Given the description of an element on the screen output the (x, y) to click on. 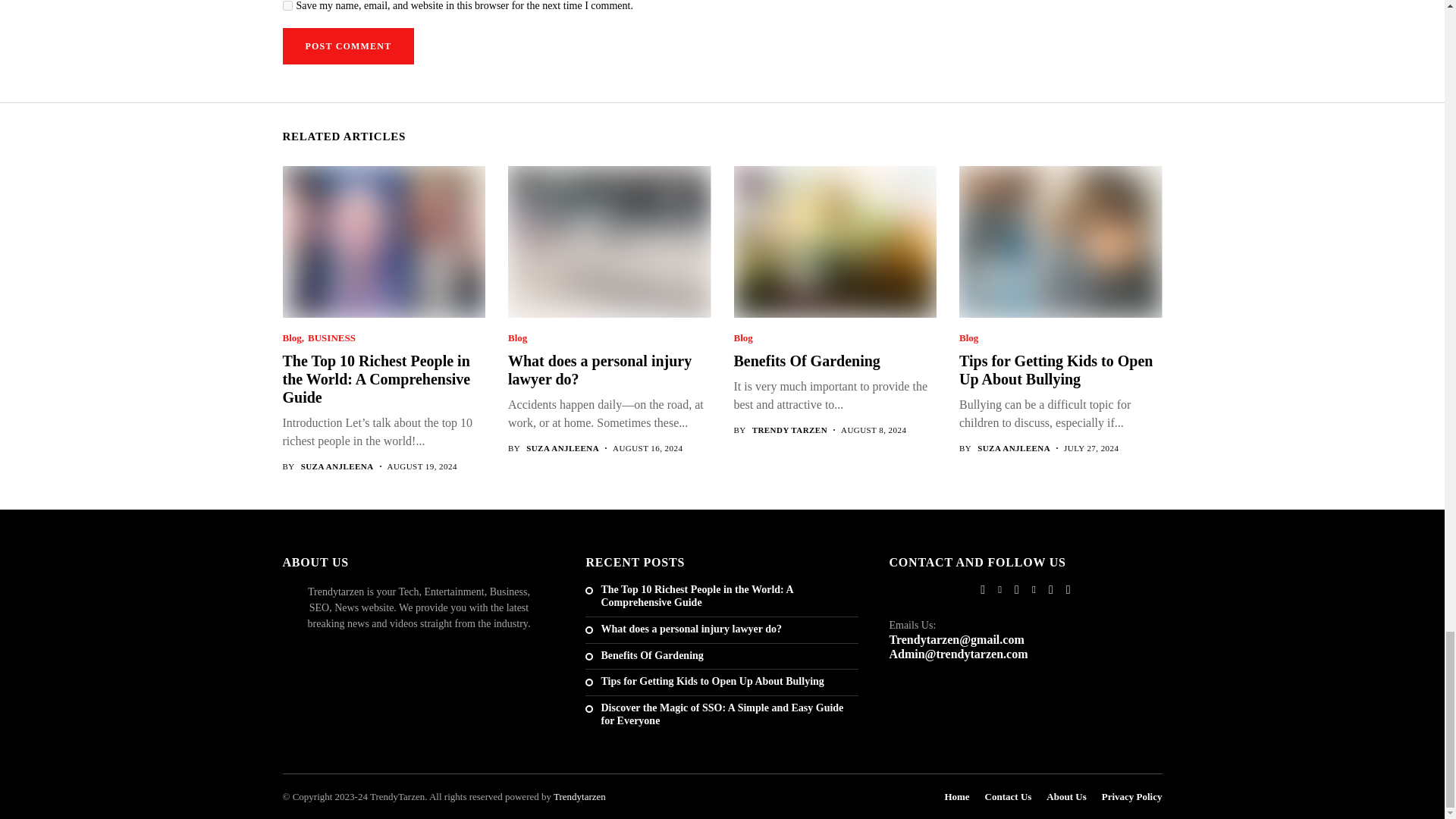
Posts by Suza Anjleena (561, 448)
yes (287, 5)
Posts by Suza Anjleena (337, 466)
What does a personal injury lawyer do? 7 (608, 241)
Benefits Of Gardening 8 (834, 241)
Post Comment (347, 45)
